Given the description of an element on the screen output the (x, y) to click on. 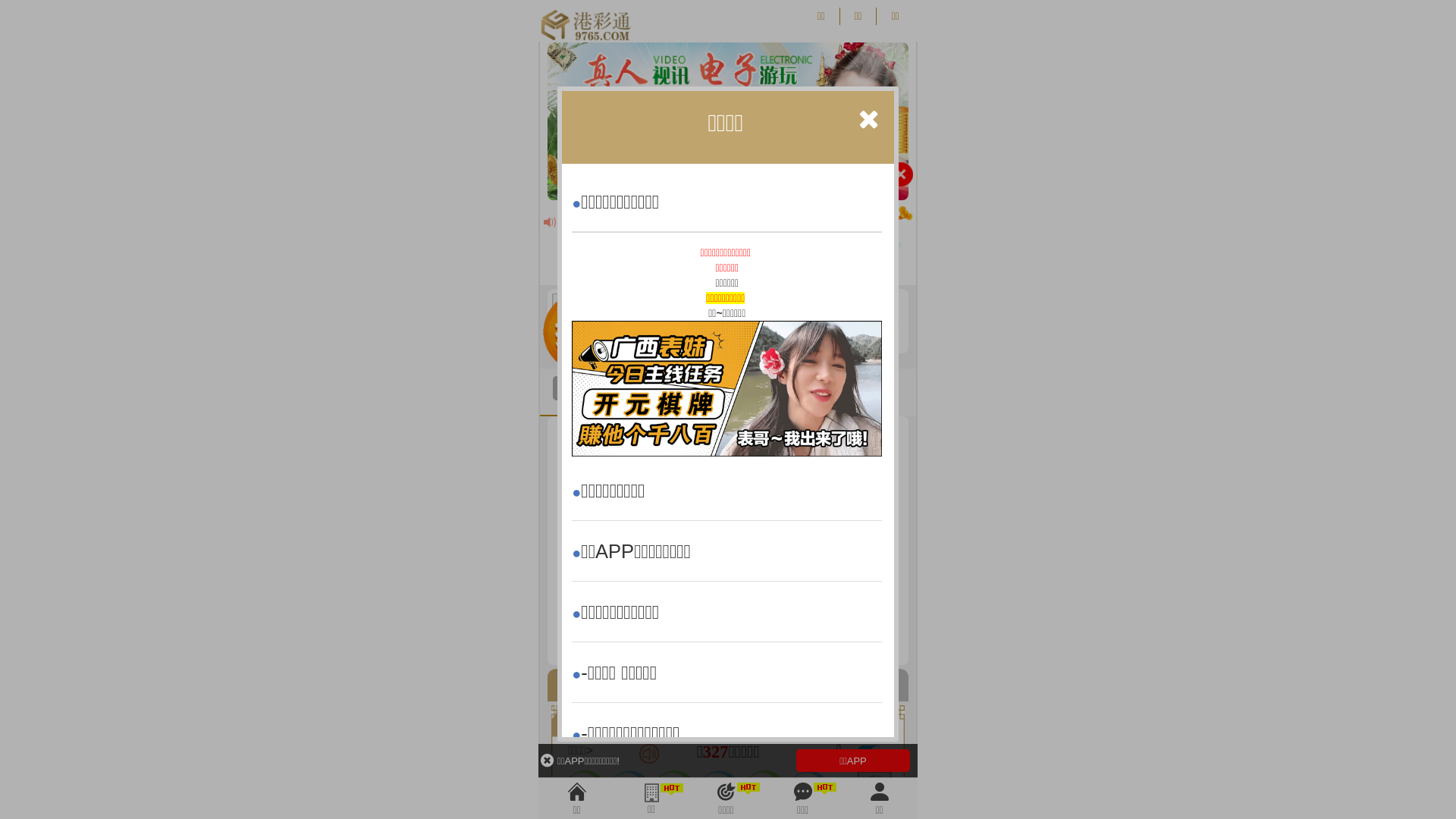
1700228965207625.gif Element type: hover (726, 388)
